Given the description of an element on the screen output the (x, y) to click on. 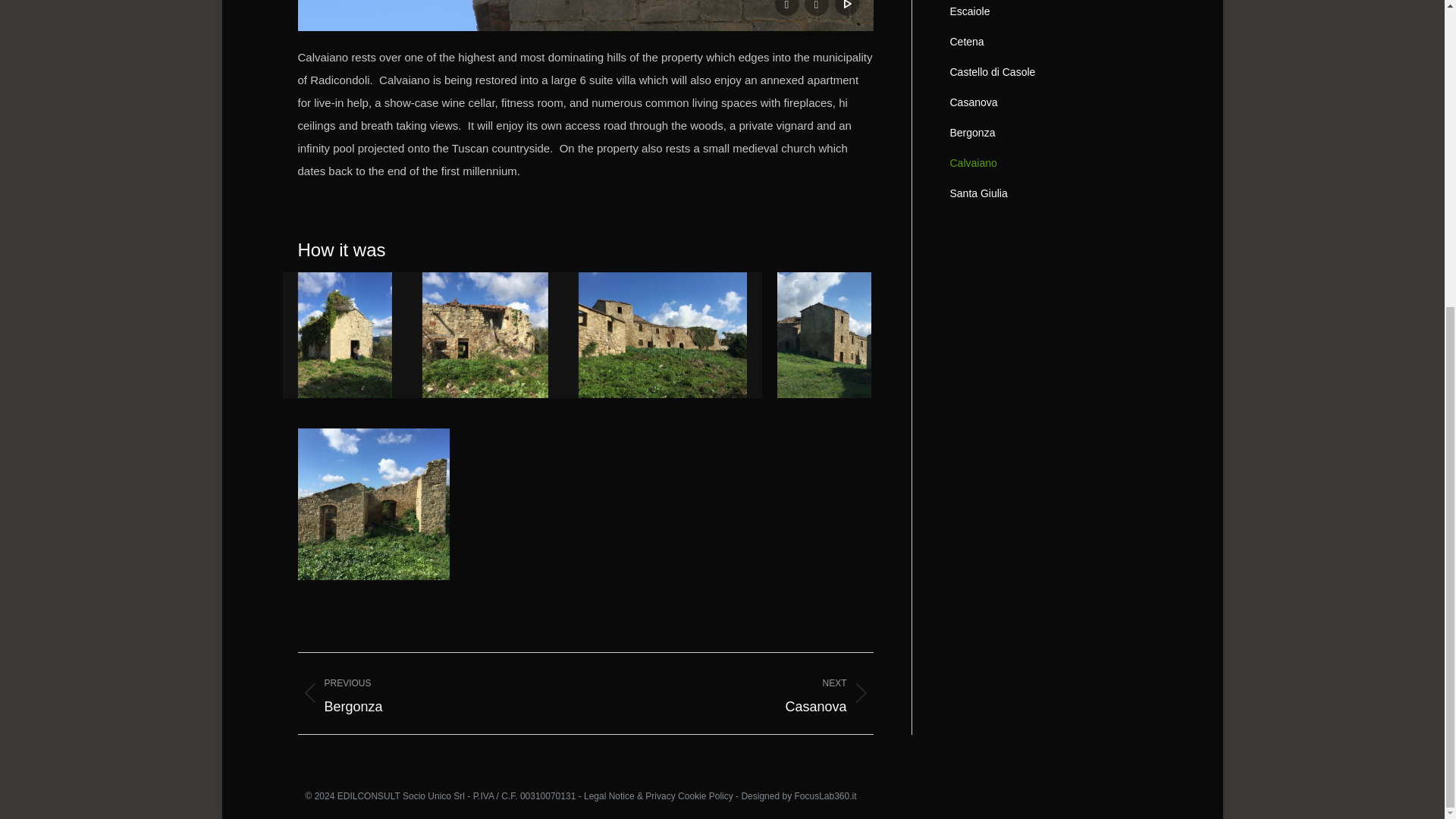
Cetena (1048, 45)
Casanova (429, 692)
Escaiole (740, 692)
Castello di Casole (1048, 105)
